Given the description of an element on the screen output the (x, y) to click on. 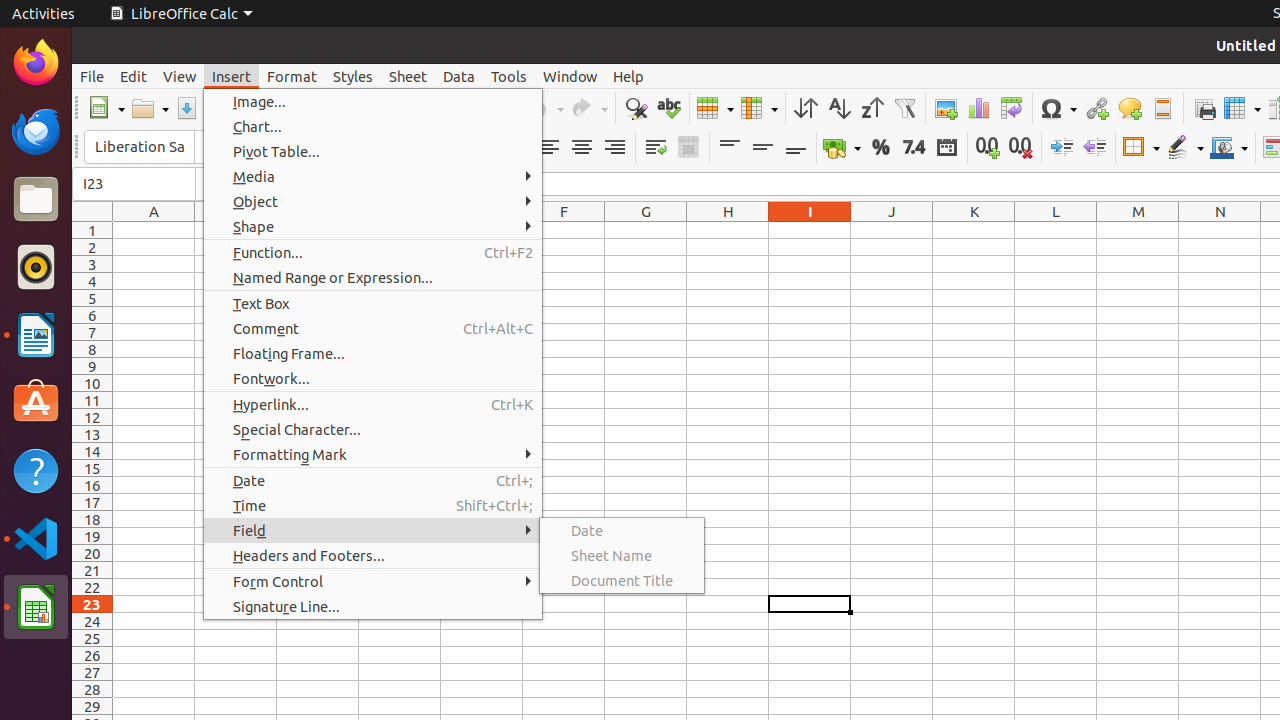
Format Element type: menu (292, 76)
Find & Replace Element type: toggle-button (635, 108)
Tools Element type: menu (509, 76)
Chart Element type: push-button (978, 108)
